Given the description of an element on the screen output the (x, y) to click on. 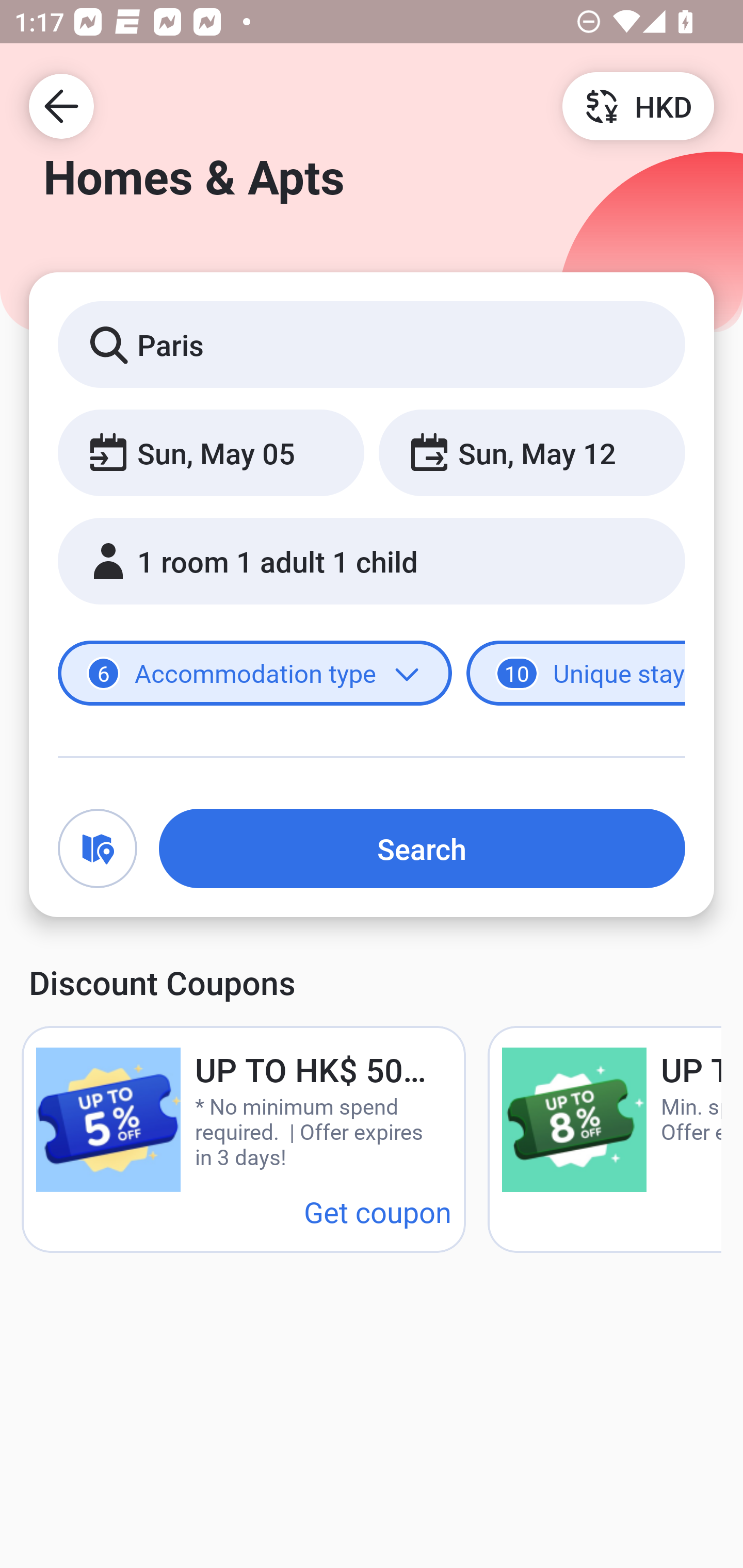
HKD (638, 105)
Paris (371, 344)
Sun, May 05 (210, 452)
Sun, May 12 (531, 452)
1 room 1 adult 1 child (371, 561)
6 Accommodation type (254, 673)
10 Unique stays (575, 673)
Search (422, 848)
Get coupon (377, 1211)
